Given the description of an element on the screen output the (x, y) to click on. 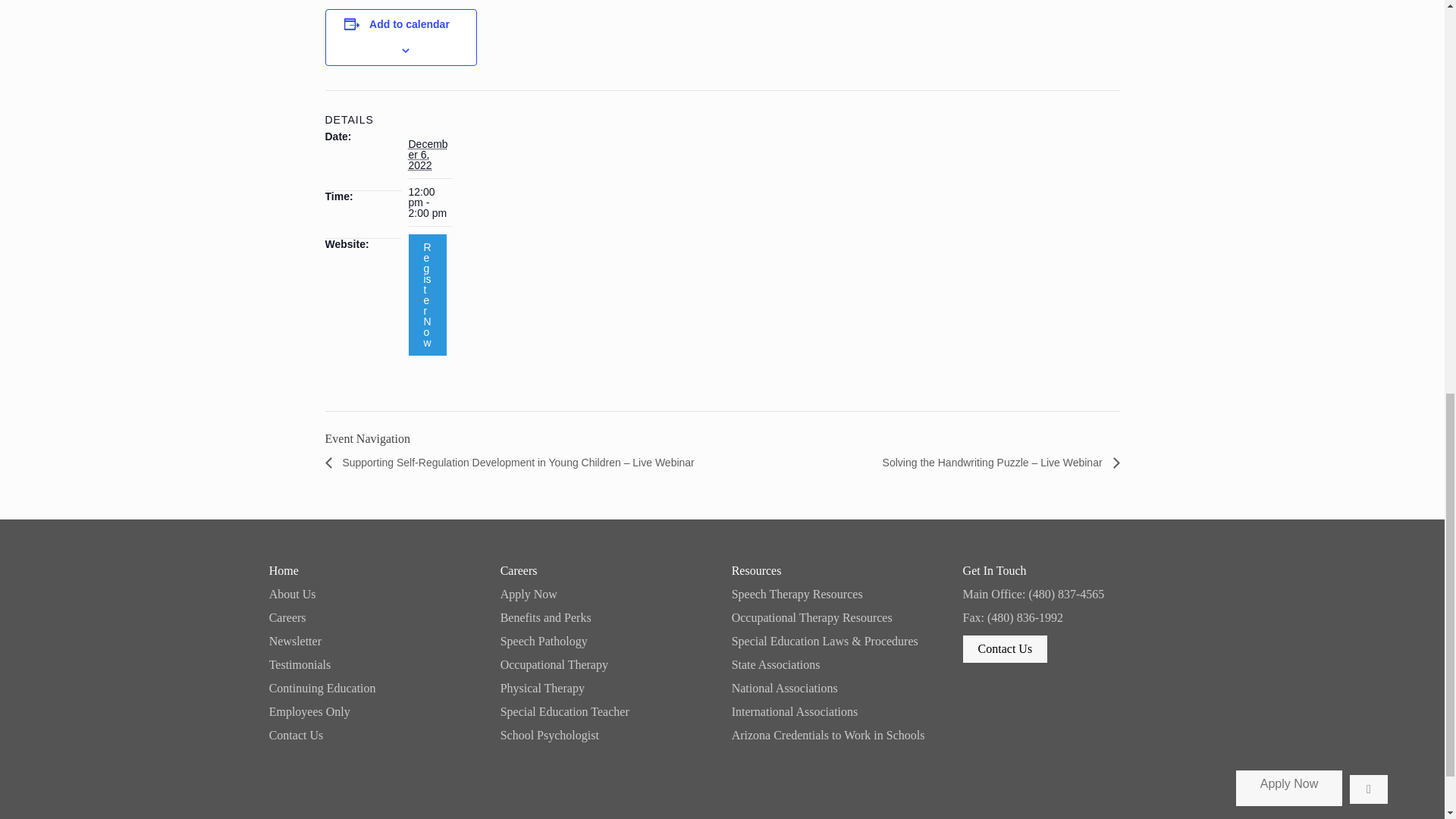
Careers (375, 617)
Employees Only (375, 711)
About Us (375, 594)
2022-12-06 (429, 202)
Home (375, 571)
2022-12-06 (426, 154)
Testimonials (375, 664)
Add to calendar (409, 24)
Contact Us (375, 735)
Newsletter (375, 641)
Continuing Education (375, 688)
